Given the description of an element on the screen output the (x, y) to click on. 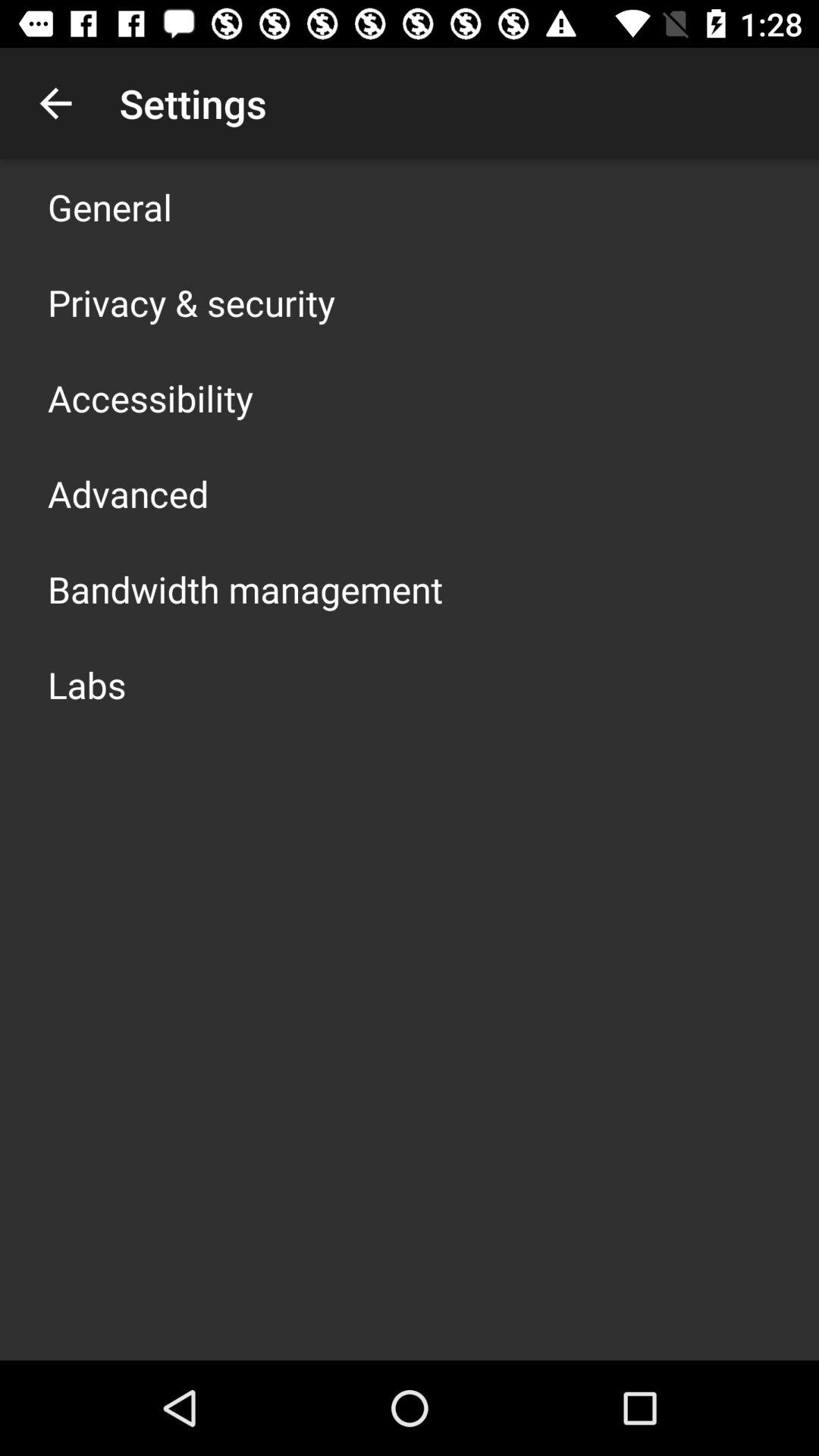
flip to the general item (109, 206)
